Given the description of an element on the screen output the (x, y) to click on. 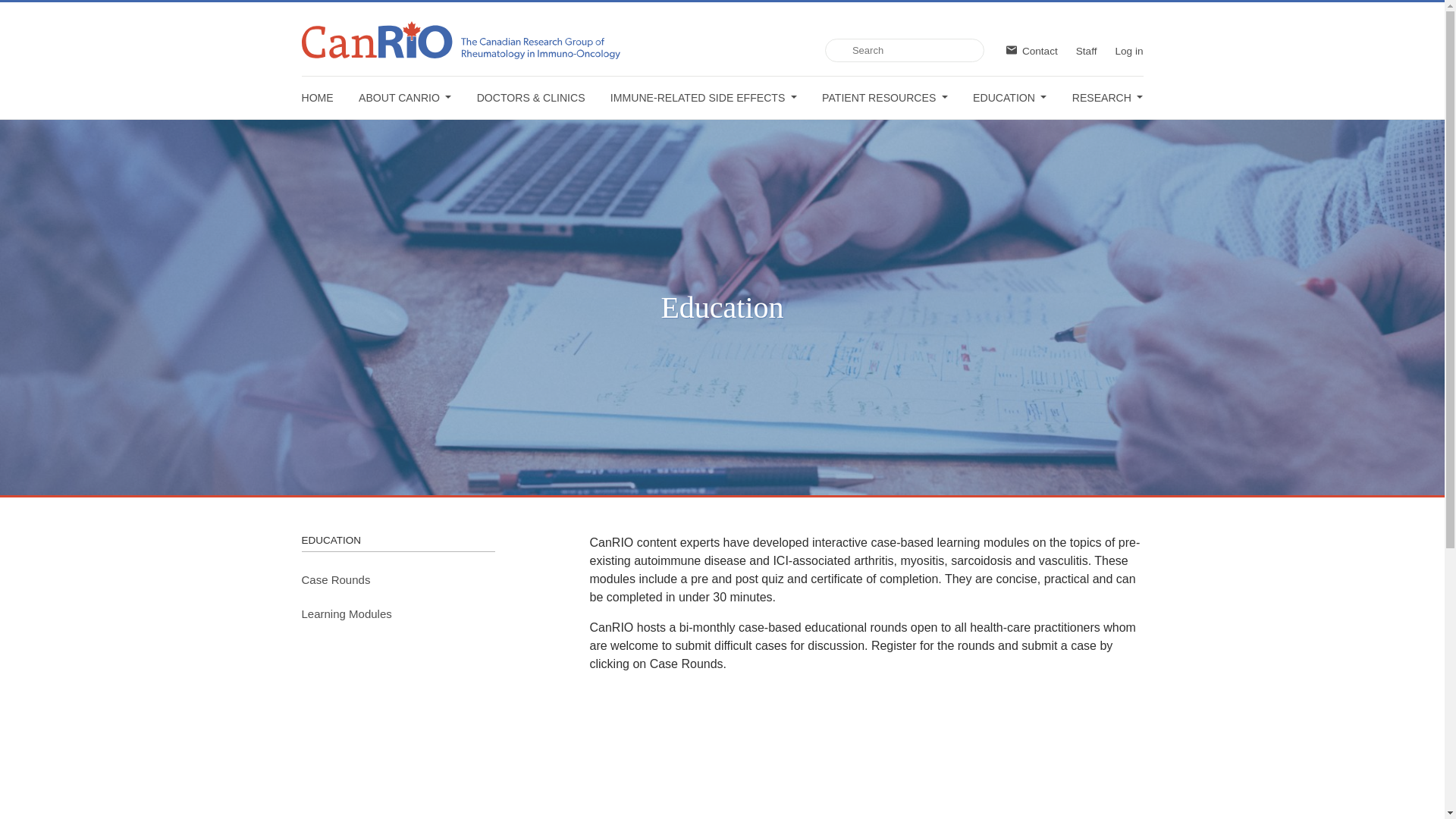
HOME (317, 97)
Log in (1128, 51)
ABOUT CANRIO (404, 97)
Contact (1032, 51)
Staff (1086, 51)
